Given the description of an element on the screen output the (x, y) to click on. 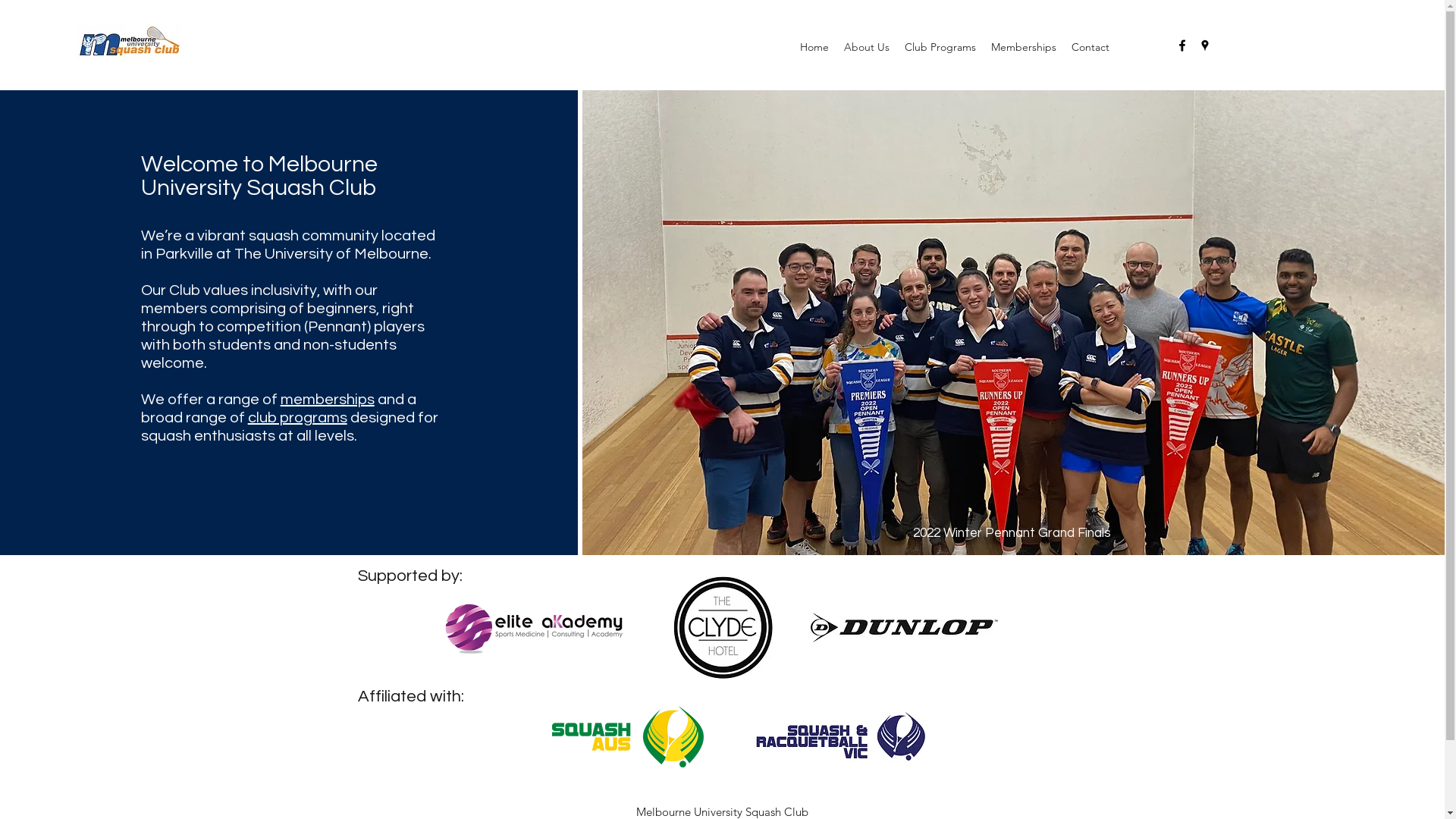
About Us Element type: text (866, 45)
Contact Element type: text (1090, 45)
club programs Element type: text (297, 417)
Club Programs Element type: text (940, 45)
memberships Element type: text (327, 399)
Memberships Element type: text (1023, 45)
Home Element type: text (814, 45)
